Given the description of an element on the screen output the (x, y) to click on. 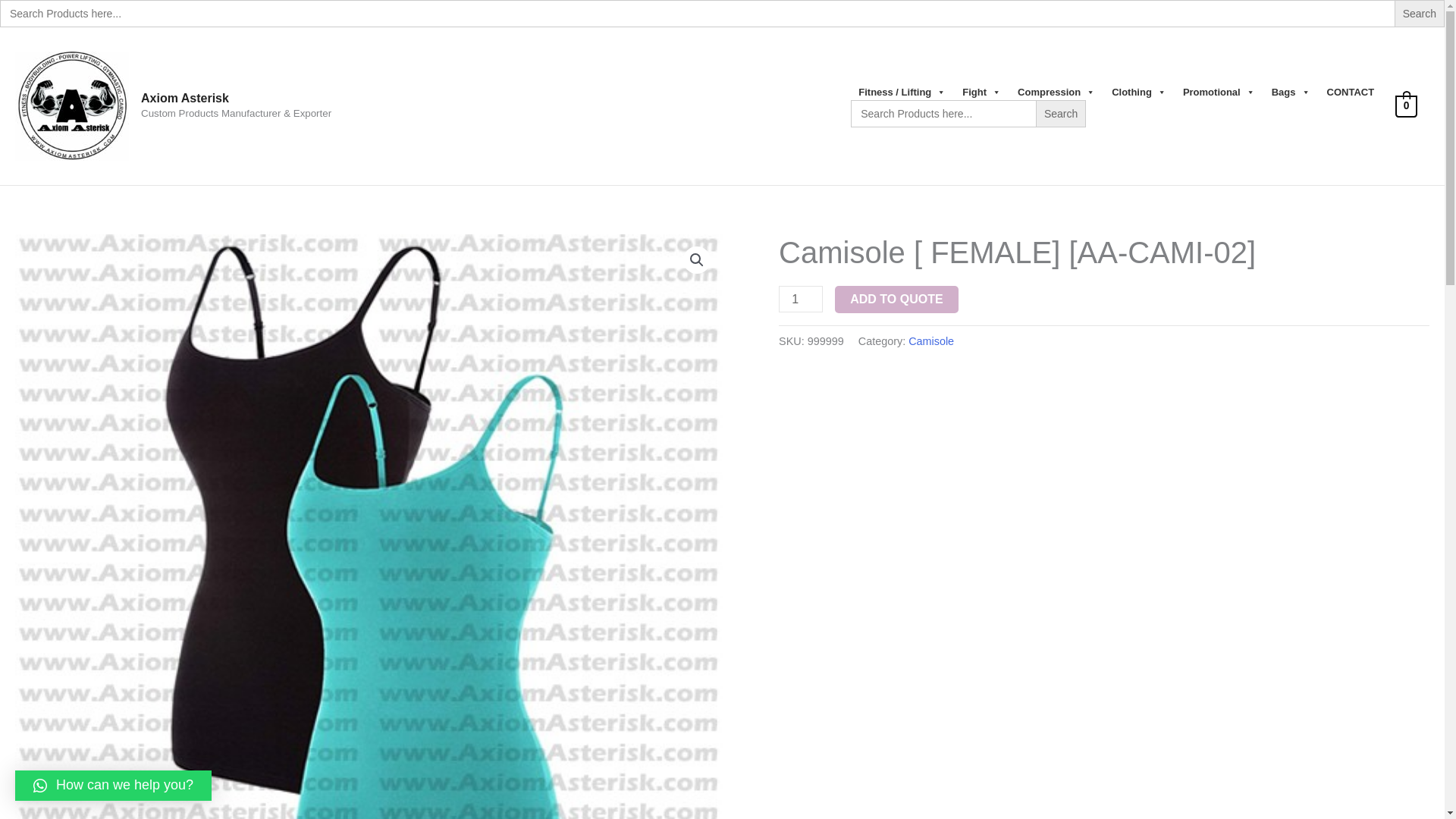
Search (1419, 13)
Axiom Asterisk (184, 97)
Search (1419, 13)
Search (1419, 13)
Search (1060, 113)
1 (800, 298)
Search (1060, 113)
